Given the description of an element on the screen output the (x, y) to click on. 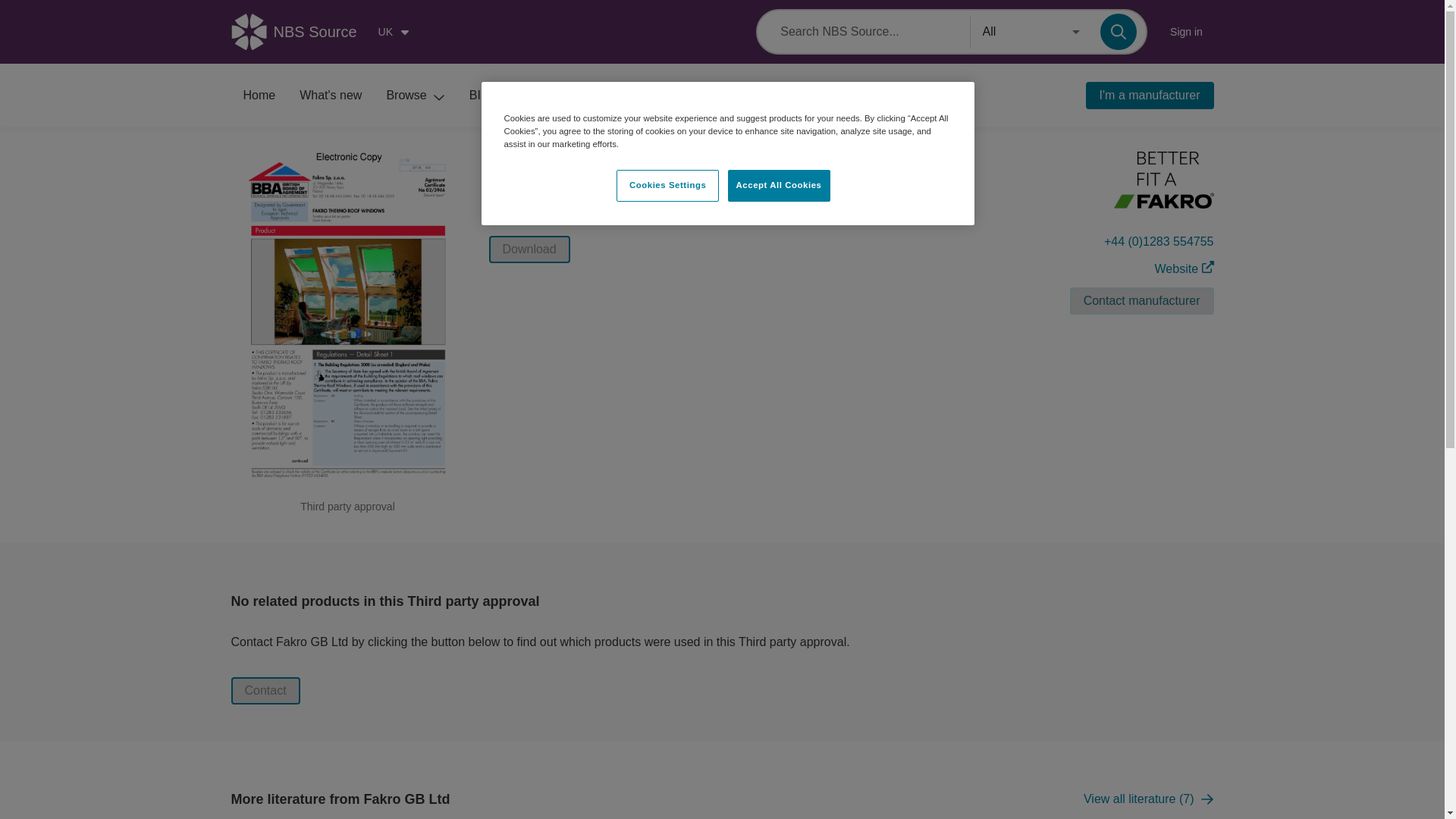
Collections (683, 95)
BIM Library (509, 95)
Website (1184, 269)
Select item (608, 192)
Browse (415, 95)
Browse (415, 95)
Fakro GB Ltd (539, 192)
Browse inspiration (602, 95)
Homepage (258, 95)
Browse what's new (330, 95)
Collections (683, 95)
What's new (330, 95)
BIM Library (509, 95)
View more from fakro-gb-ltd (1155, 187)
Home (258, 95)
